Given the description of an element on the screen output the (x, y) to click on. 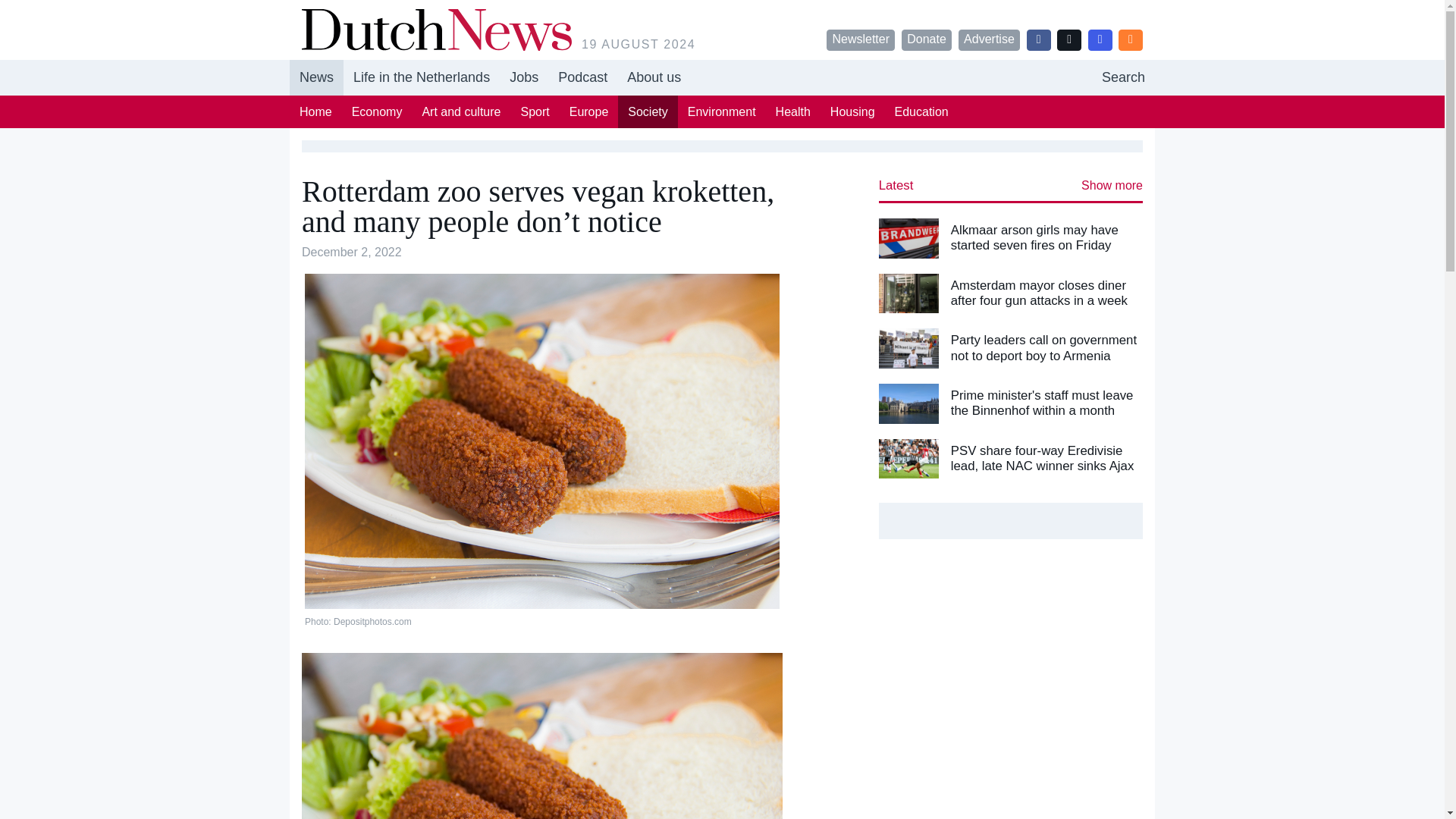
Podcast (721, 77)
Sport (582, 77)
Advertise (535, 111)
About us (989, 39)
hidden-in-footer (653, 77)
hidden-in-footer (582, 77)
Newsletter (523, 77)
Health (861, 39)
Donate (793, 111)
